Given the description of an element on the screen output the (x, y) to click on. 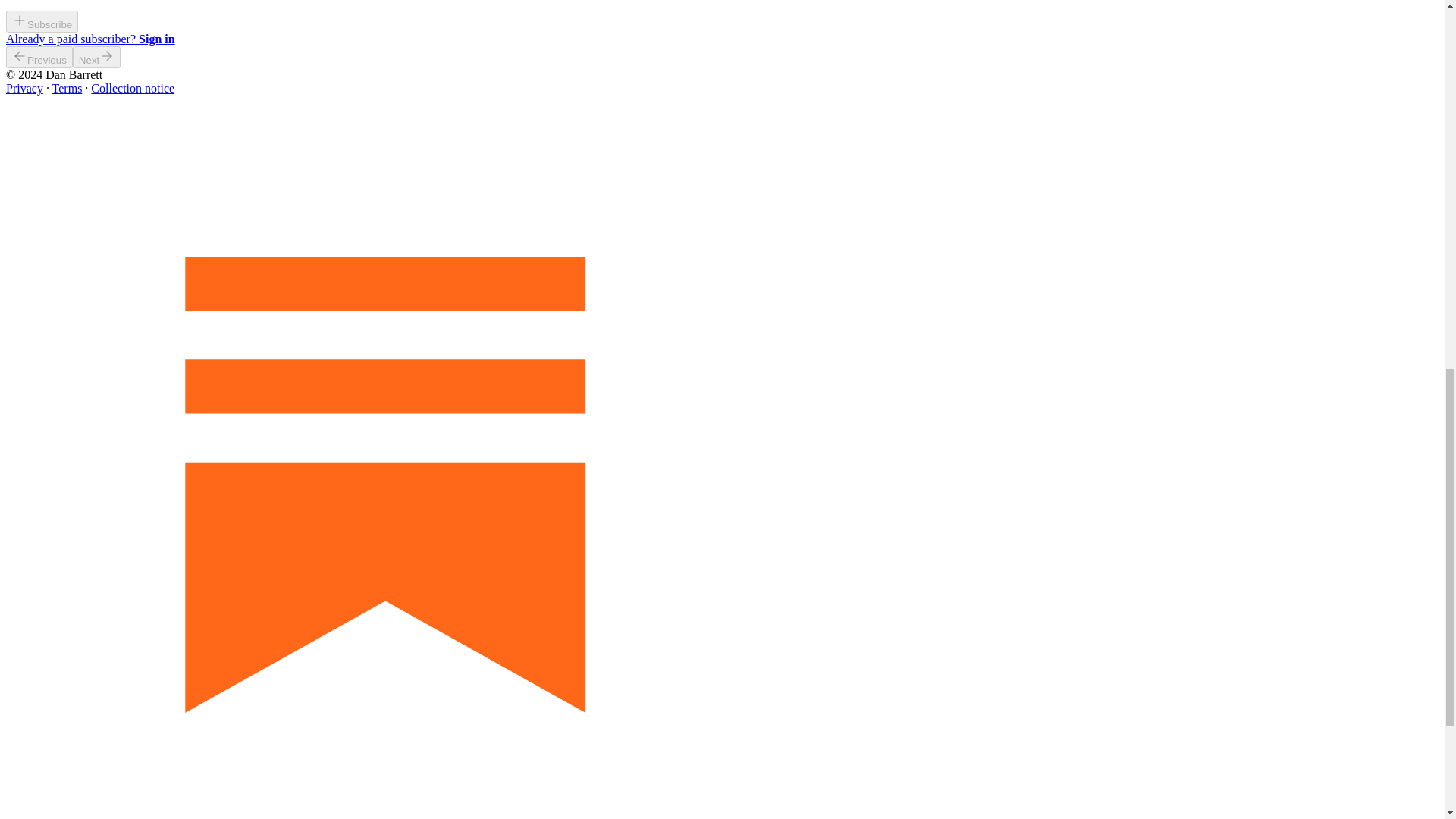
Next (96, 56)
Privacy (24, 88)
Collection notice (132, 88)
Terms (67, 88)
Subscribe (41, 23)
Already a paid subscriber? Sign in (89, 38)
Previous (38, 56)
Subscribe (41, 21)
